Given the description of an element on the screen output the (x, y) to click on. 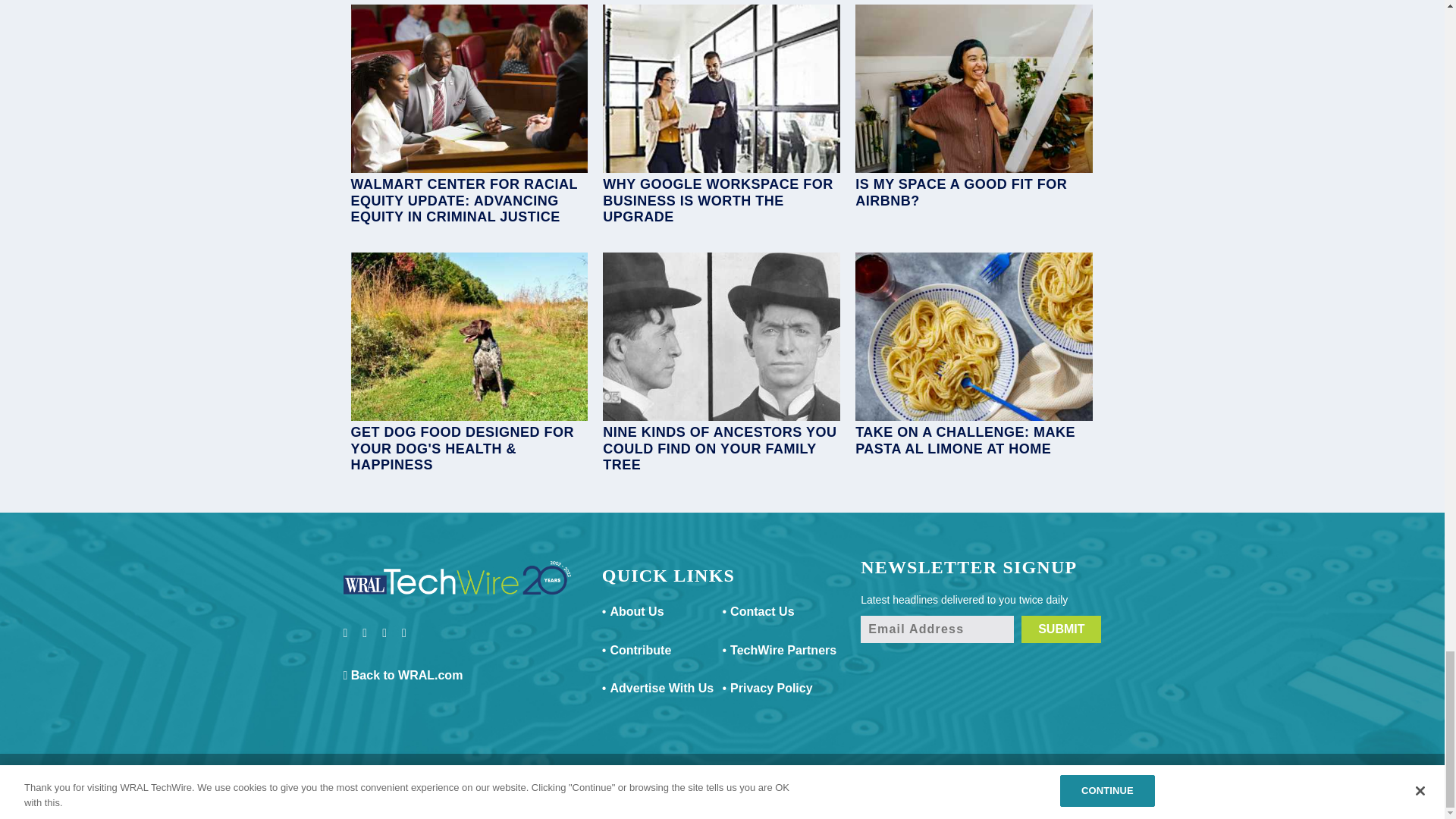
SUBMIT (1061, 628)
